Given the description of an element on the screen output the (x, y) to click on. 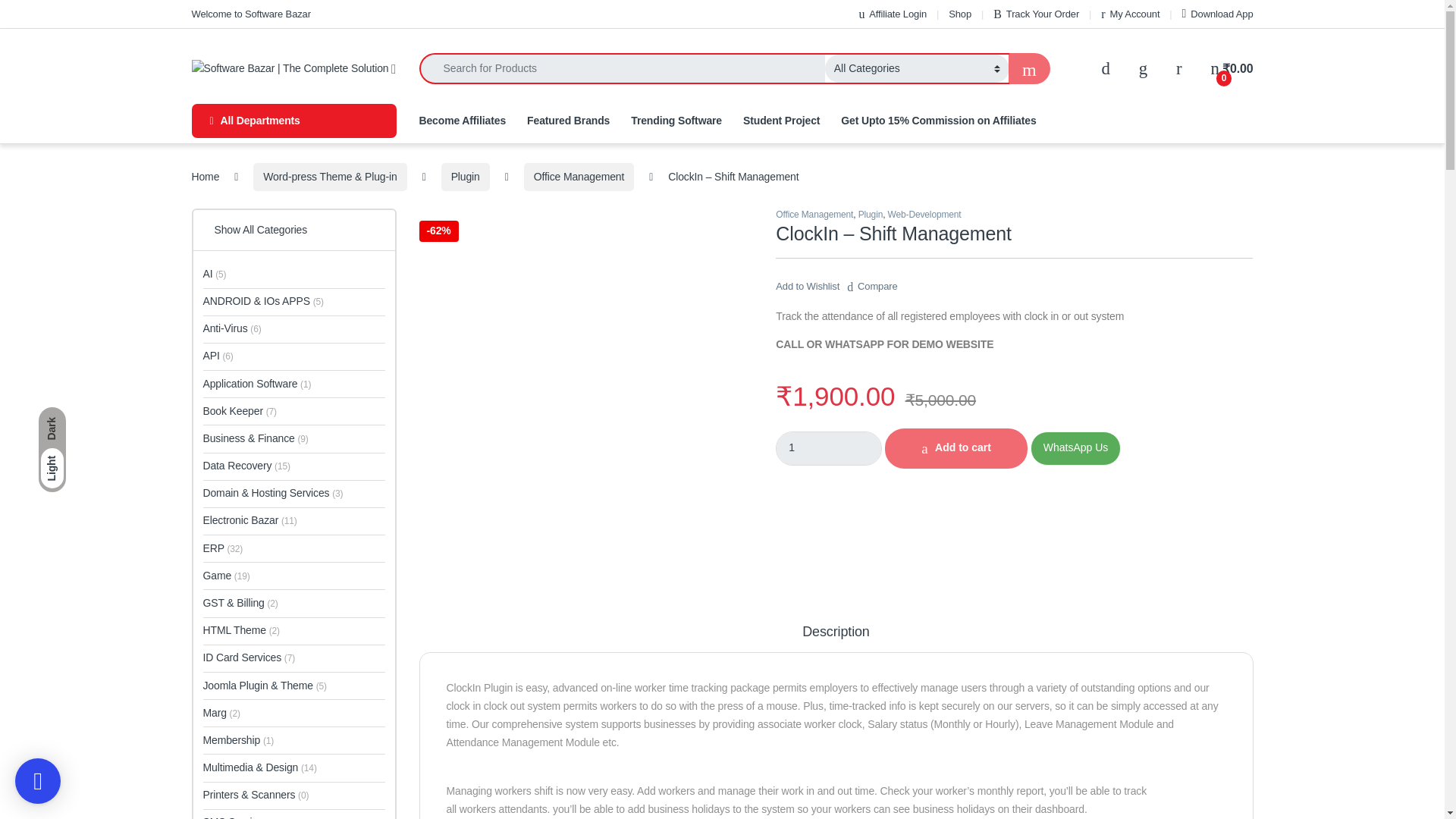
Download App (1217, 13)
Download App (1217, 13)
1 (829, 448)
Welcome to Software Bazar (250, 13)
Track Your Order (1035, 13)
Welcome to Software Bazar (250, 13)
Affiliate Login (892, 13)
My Account (1129, 13)
Affiliate Login (892, 13)
Track Your Order (1035, 13)
